Given the description of an element on the screen output the (x, y) to click on. 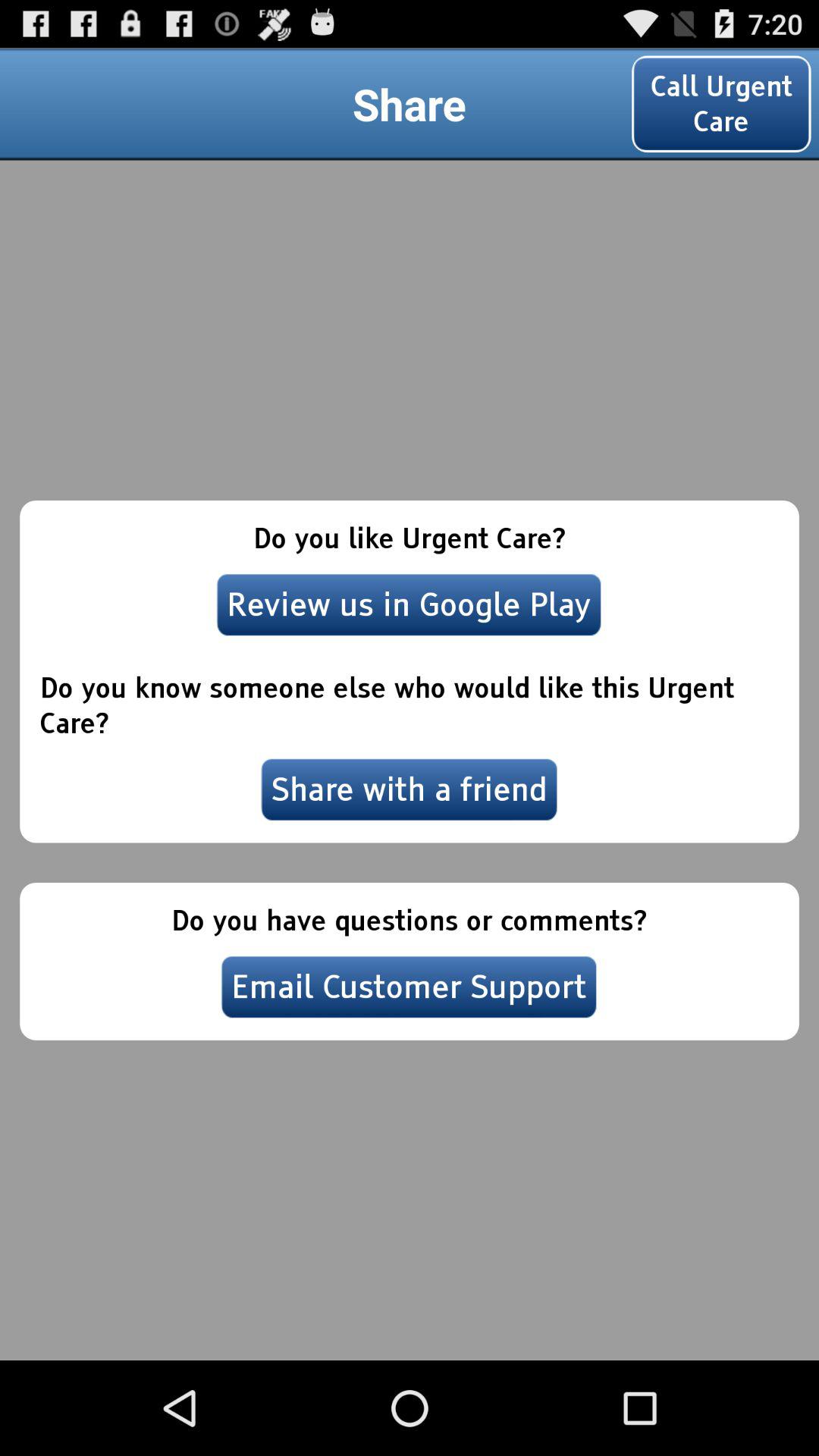
choose the icon below do you have icon (408, 986)
